Given the description of an element on the screen output the (x, y) to click on. 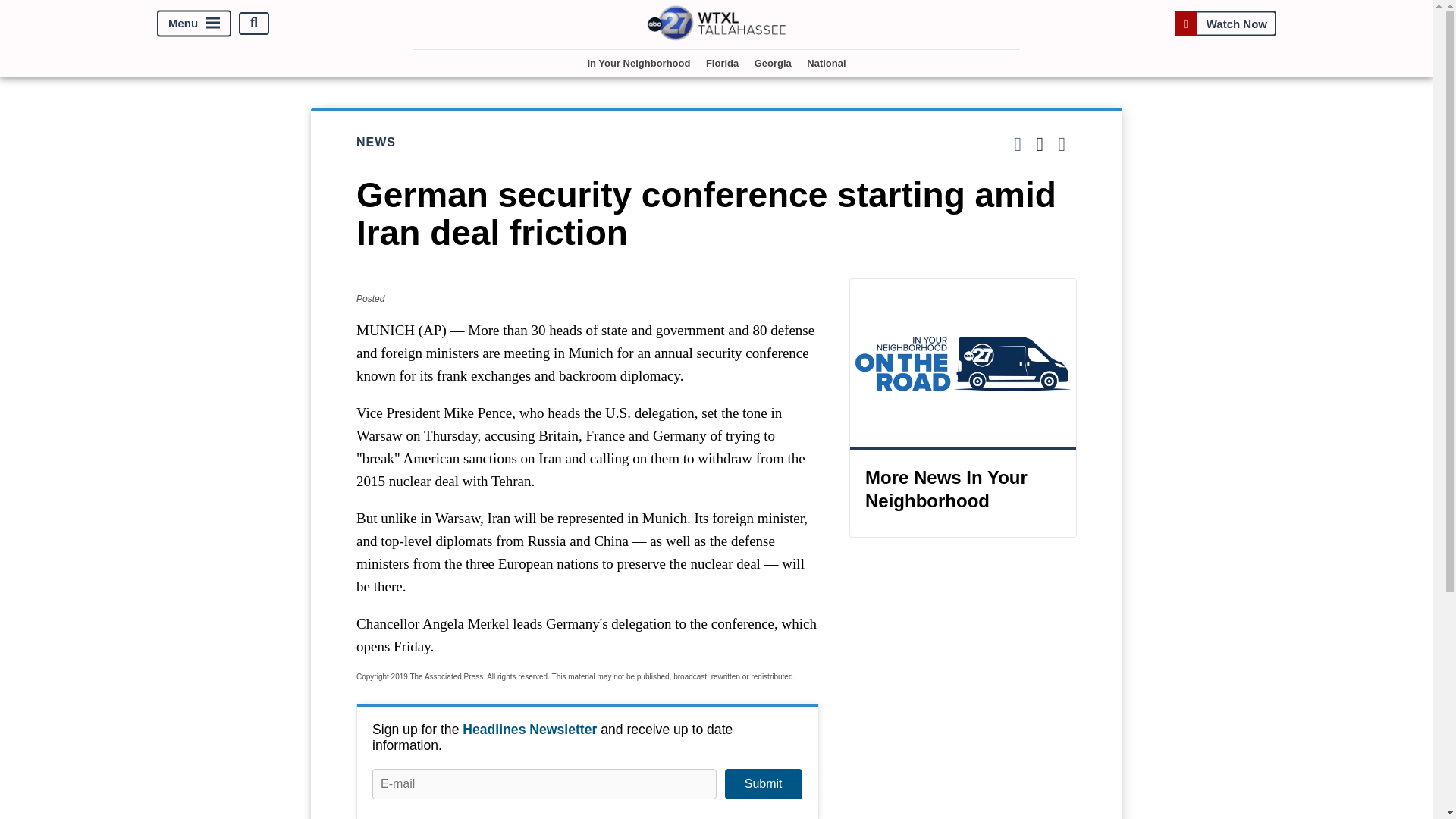
Watch Now (1224, 22)
Submit (763, 784)
Menu (194, 22)
